Given the description of an element on the screen output the (x, y) to click on. 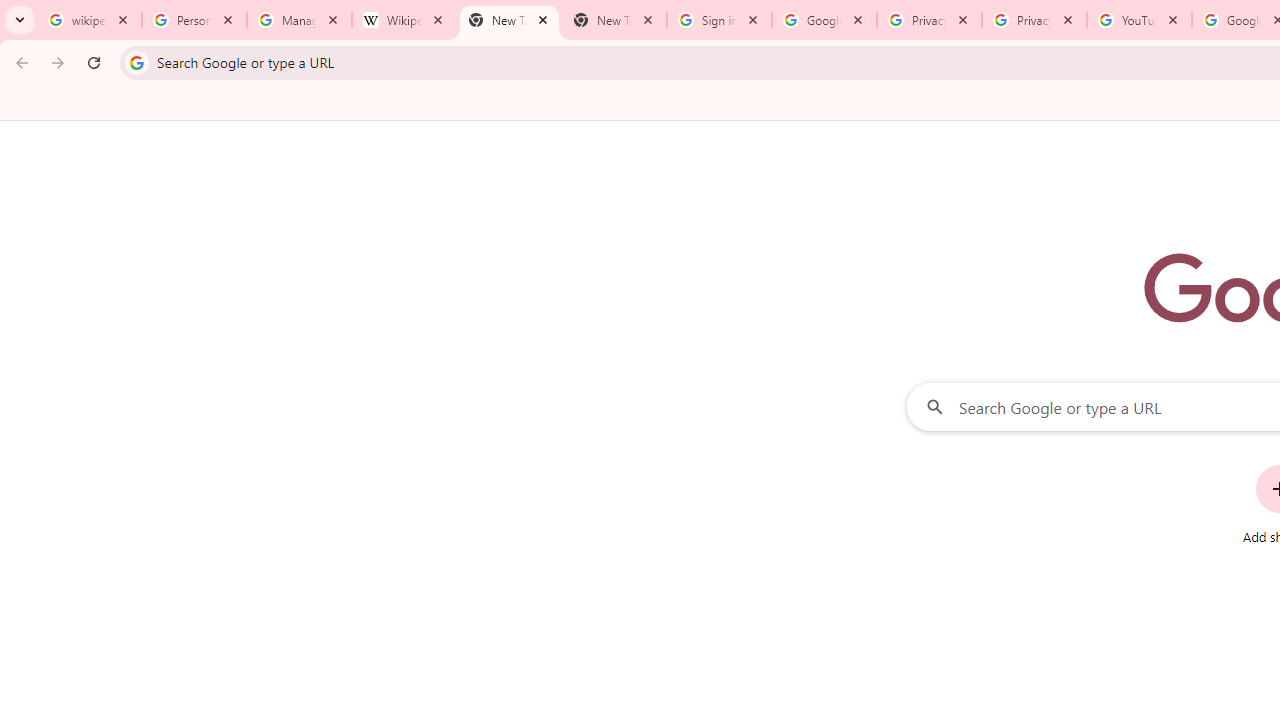
Sign in - Google Accounts (718, 20)
Manage your Location History - Google Search Help (299, 20)
